Given the description of an element on the screen output the (x, y) to click on. 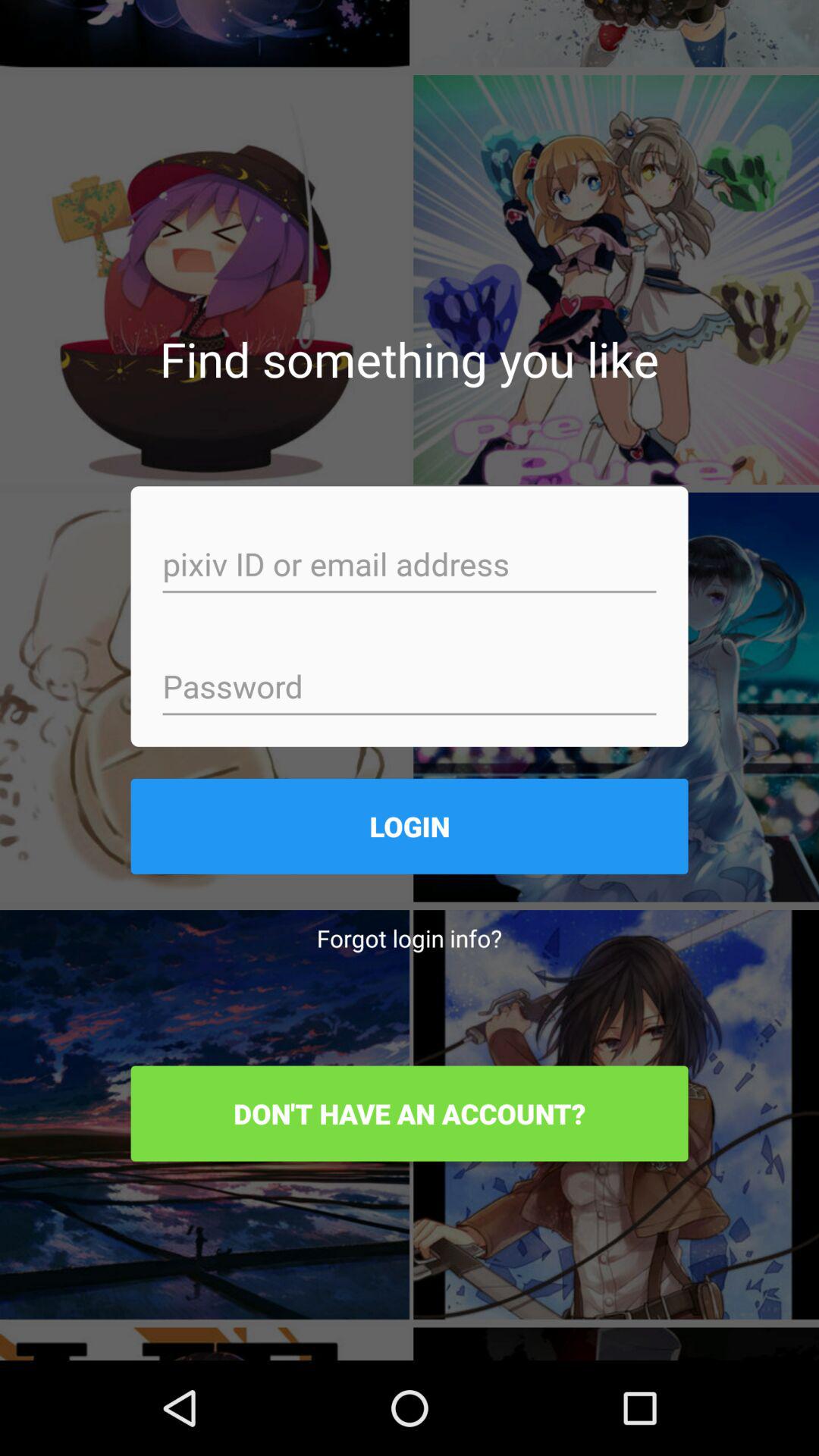
enter email address or id (409, 565)
